Given the description of an element on the screen output the (x, y) to click on. 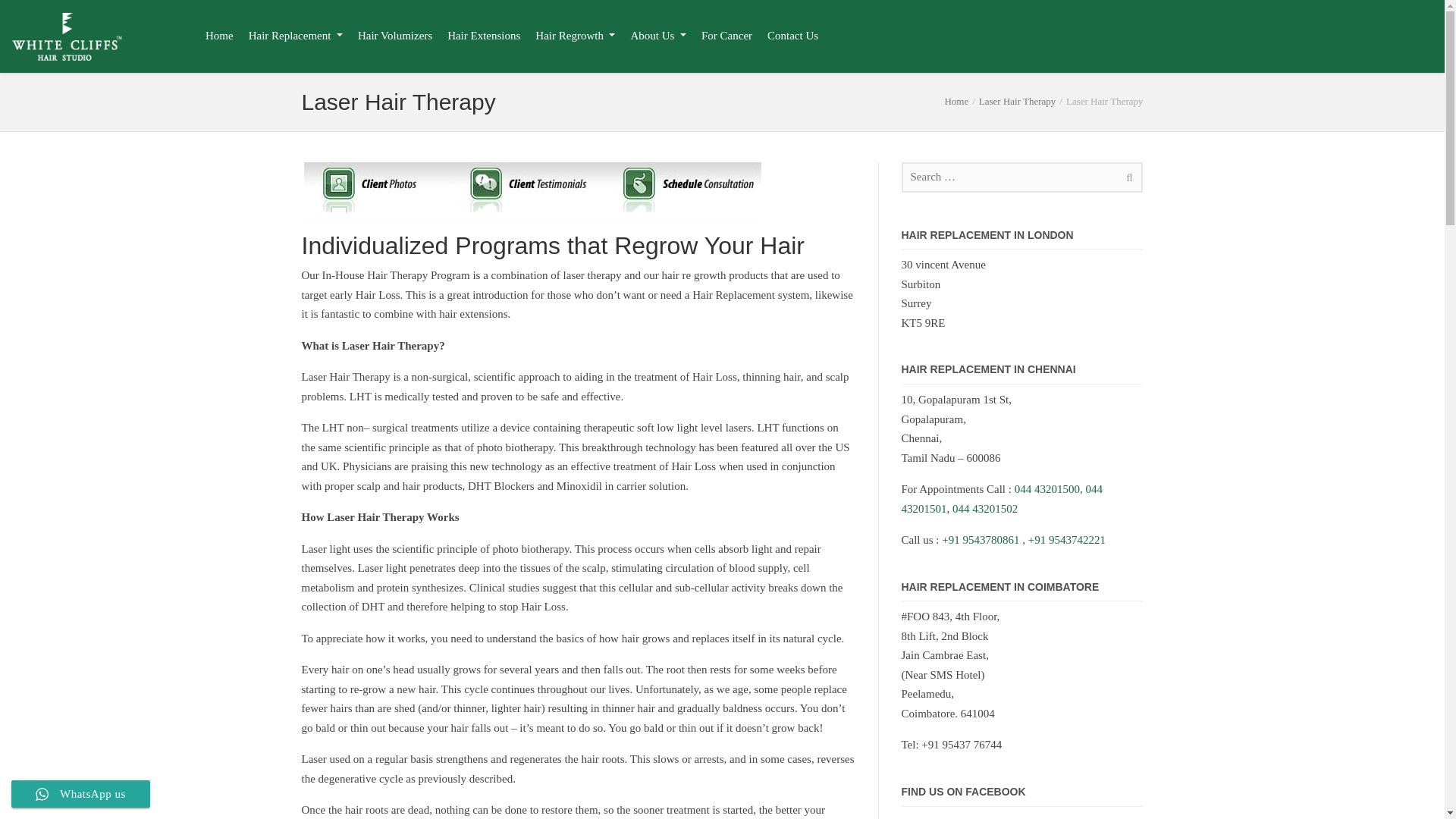
Search (1127, 177)
Search (1127, 177)
044 43201502 (984, 508)
Hair Volumizers (394, 35)
About Us (658, 35)
044 43201500 (1047, 489)
Hair Extensions (483, 35)
Home (955, 101)
Hair Replacement (295, 35)
Hair Extensions (483, 35)
